Given the description of an element on the screen output the (x, y) to click on. 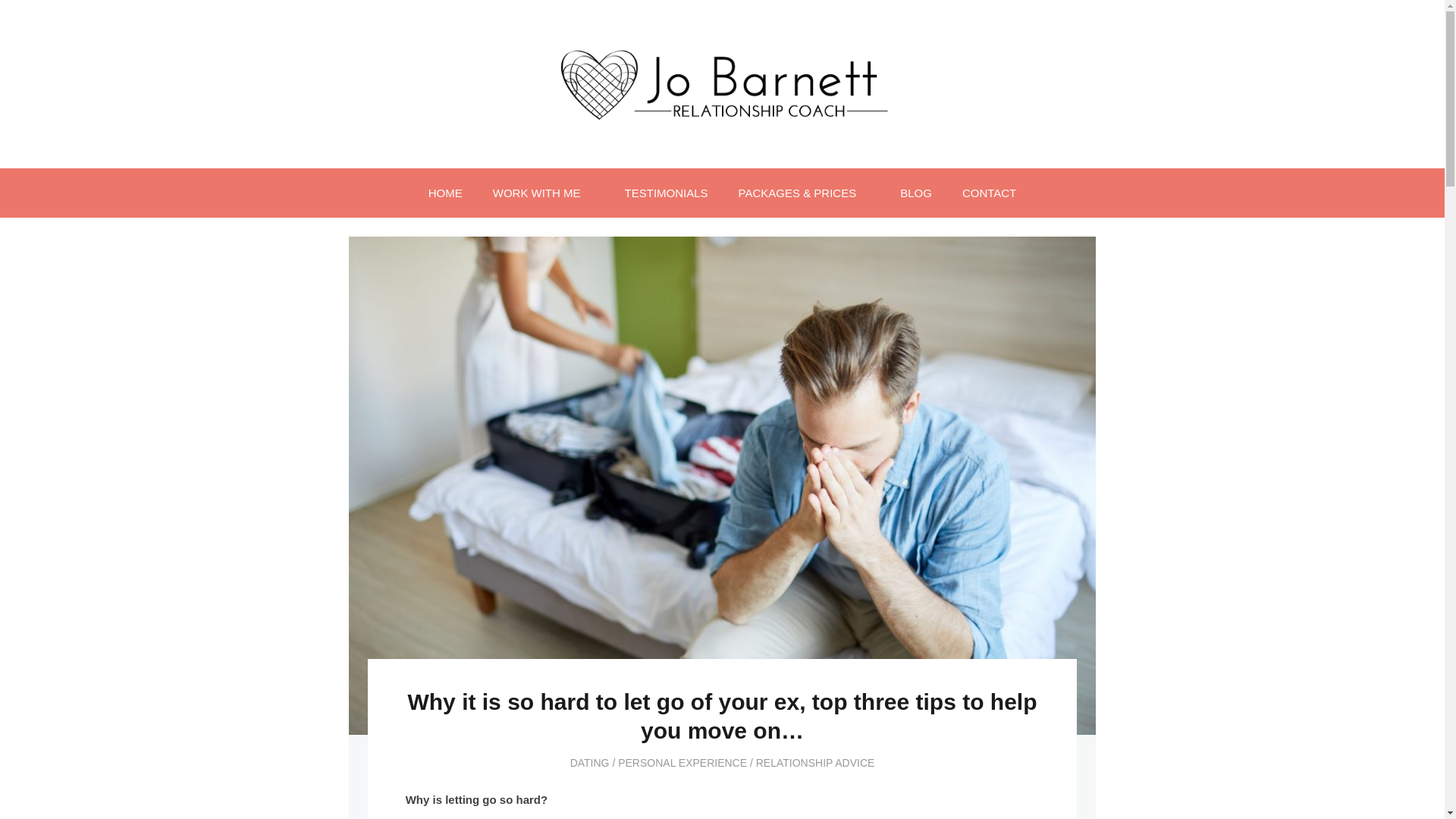
WORK WITH ME (543, 192)
CONTACT (988, 192)
DATING (590, 762)
PERSONAL EXPERIENCE (681, 762)
TESTIMONIALS (666, 192)
BLOG (916, 192)
RELATIONSHIP ADVICE (815, 762)
HOME (445, 192)
